Given the description of an element on the screen output the (x, y) to click on. 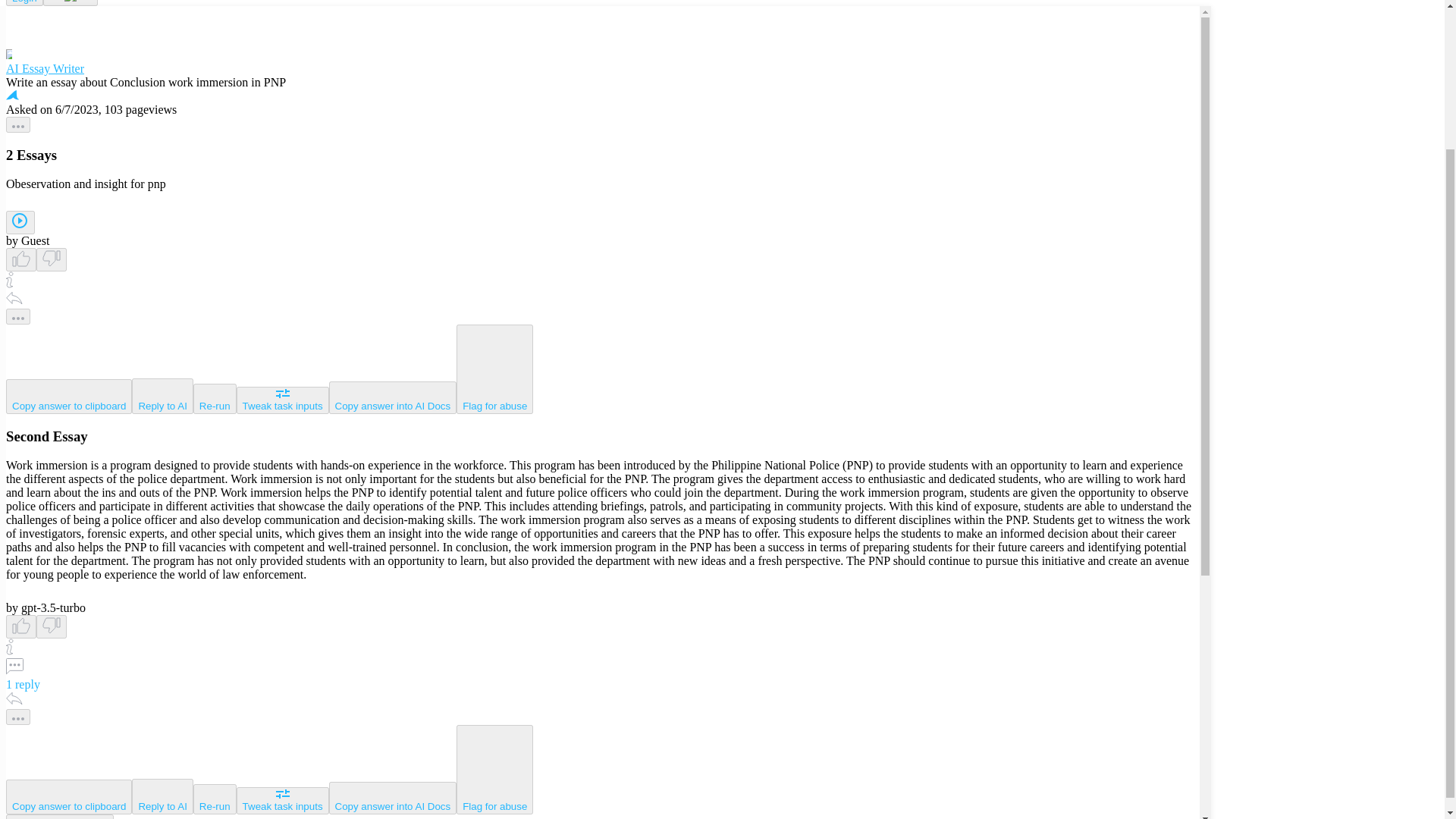
Login (24, 2)
Tweak task inputs (282, 800)
Copy answer into AI Docs (393, 397)
Reply to AI (162, 796)
Tweak task inputs (282, 400)
AI Essay Writer (602, 62)
Re-run (214, 798)
Re-run (214, 399)
Flag for abuse (494, 769)
Flag for abuse (494, 369)
Copy answer to clipboard (68, 396)
Copy answer to clipboard (68, 796)
Copy answer into AI Docs (393, 798)
Reply to AI (162, 396)
Free Trial (70, 2)
